Given the description of an element on the screen output the (x, y) to click on. 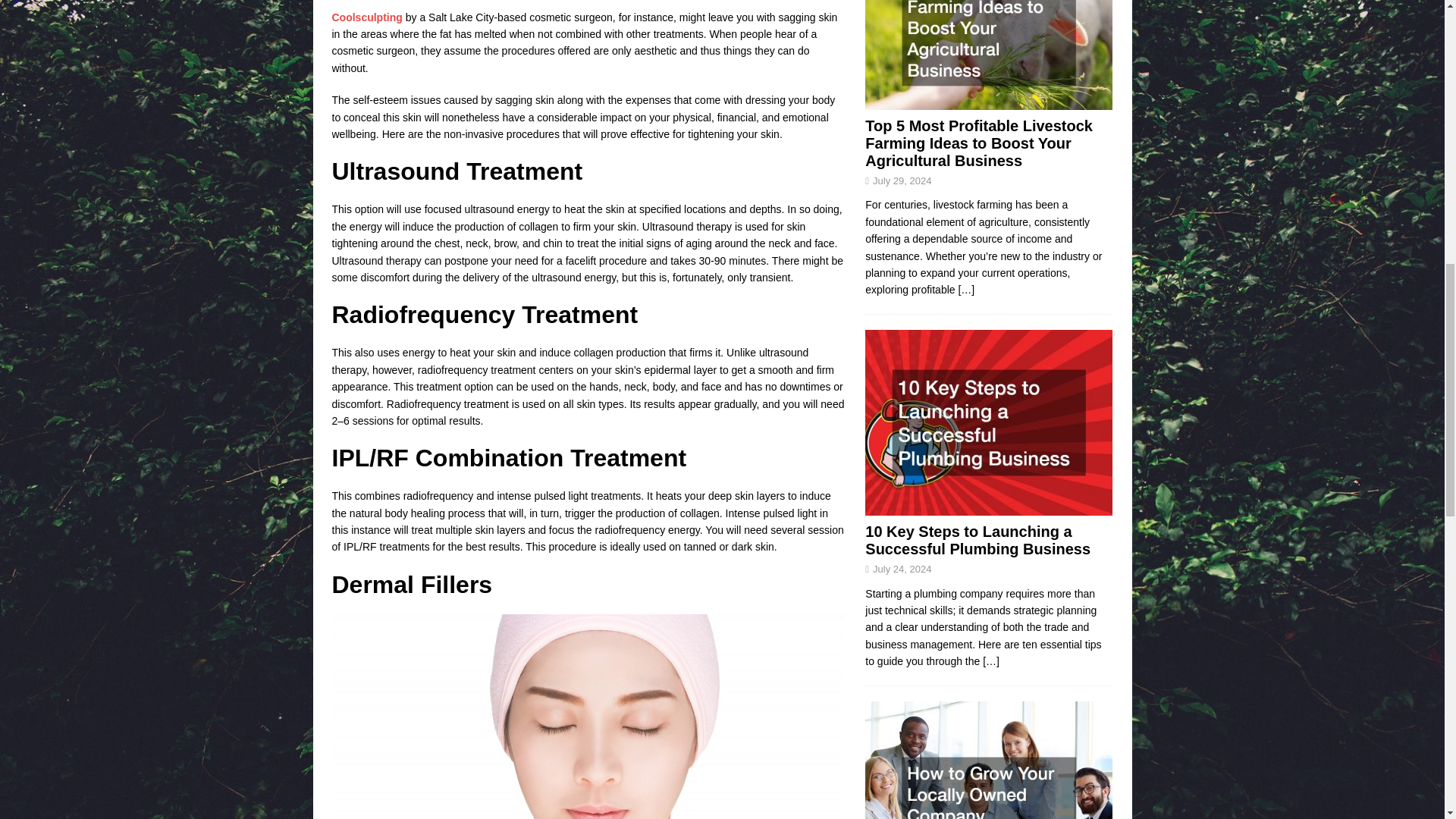
Coolsculpting (367, 17)
10 Key Steps to Launching a Successful Plumbing Business (977, 540)
Clarity Skin (367, 17)
